Given the description of an element on the screen output the (x, y) to click on. 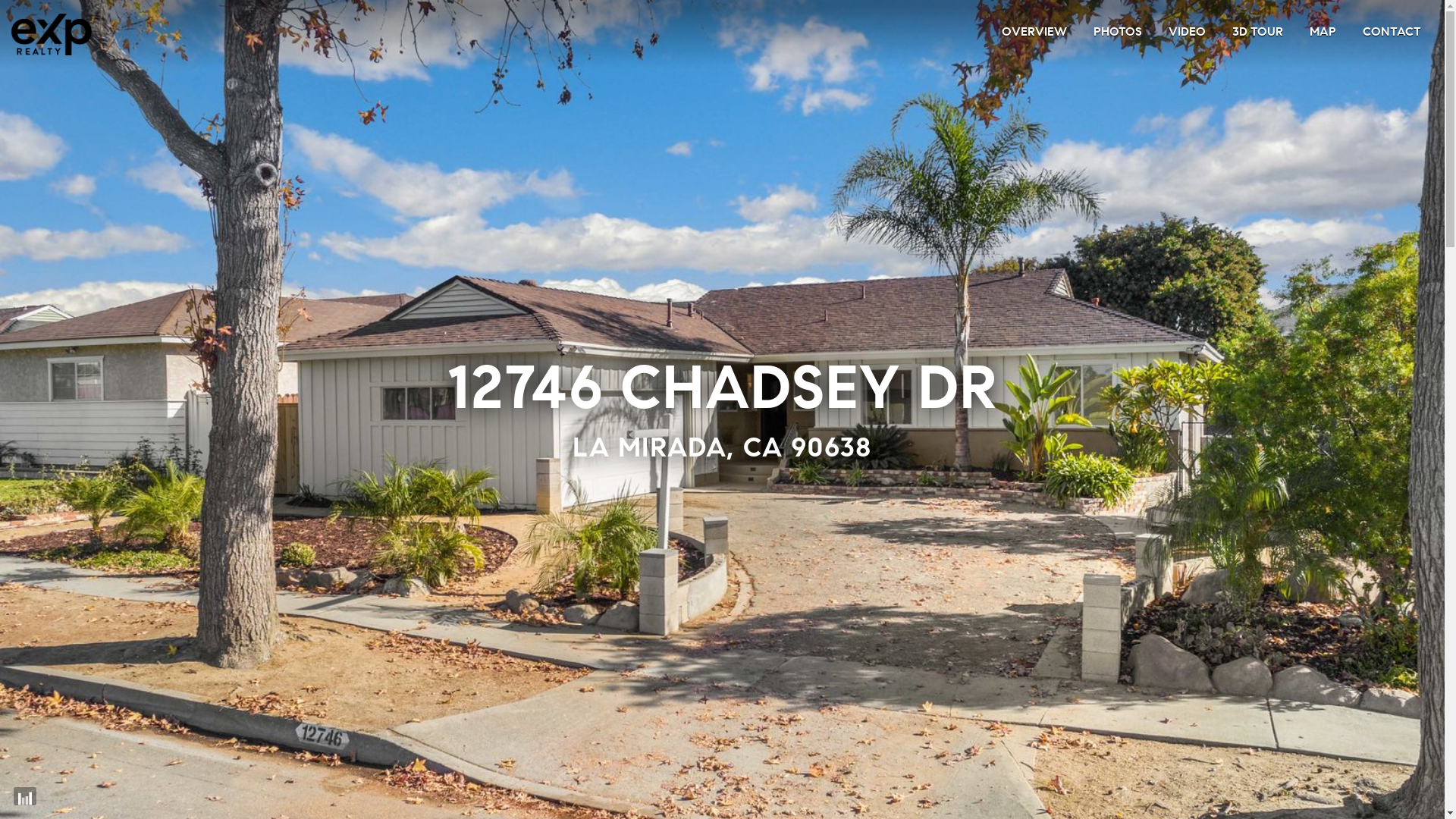
CONTACT Element type: text (1391, 31)
3D TOUR Element type: text (1257, 31)
OVERVIEW Element type: text (1033, 31)
MAP Element type: text (1322, 31)
VIDEO Element type: text (1186, 31)
PHOTOS Element type: text (1117, 31)
